Given the description of an element on the screen output the (x, y) to click on. 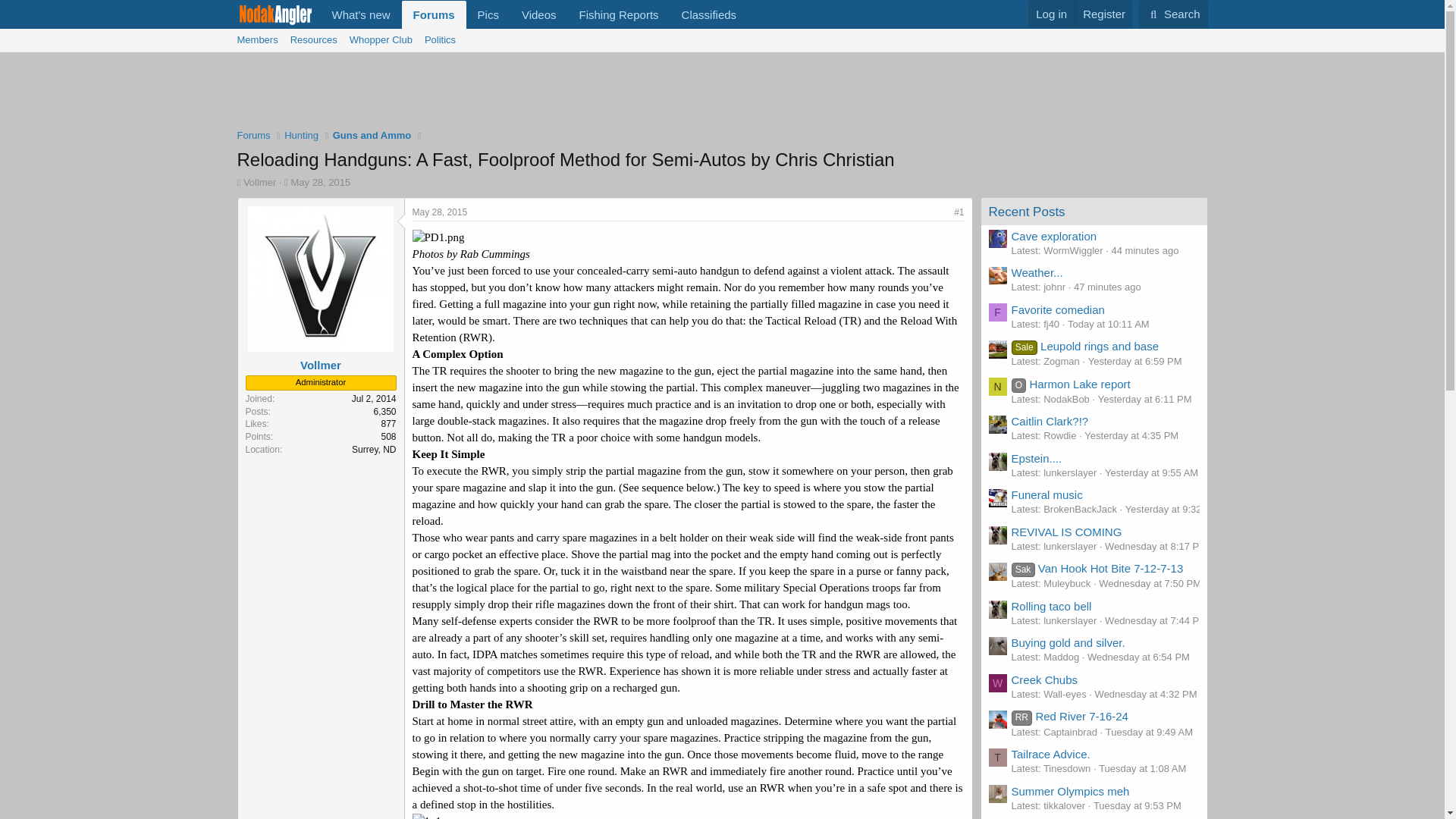
What's new (360, 14)
Thread starter (237, 182)
Fishing Reports (618, 14)
Forums (433, 14)
Videos (539, 14)
Register (1103, 13)
PD1.png (438, 237)
Vollmer (259, 182)
Surrey, ND (374, 449)
Advertisement (722, 93)
Politics (440, 39)
Vollmer (319, 364)
Classifieds (534, 31)
Guns and Ammo (708, 14)
